Given the description of an element on the screen output the (x, y) to click on. 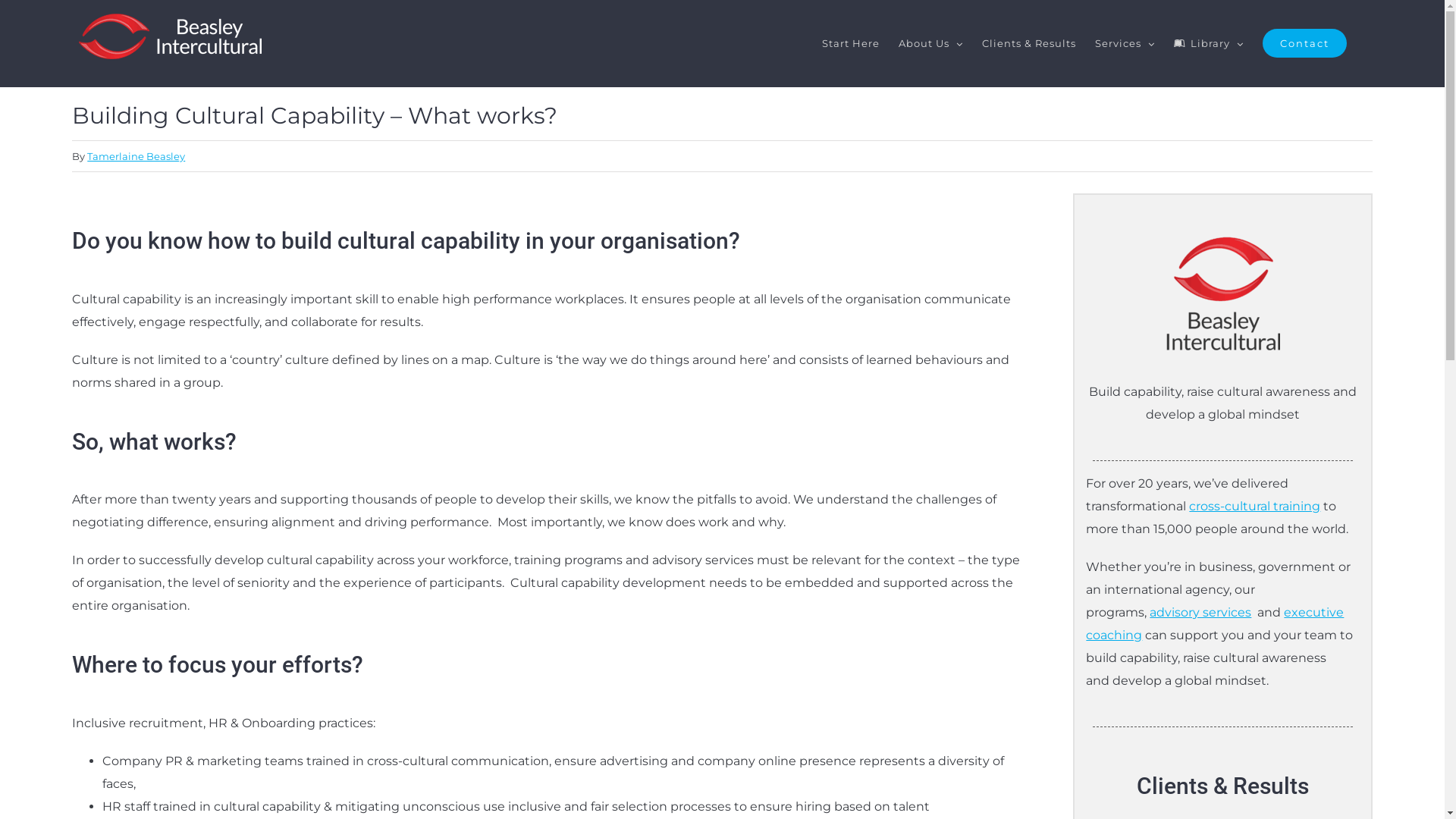
Tamerlaine Beasley Element type: text (136, 156)
Contact Element type: text (1304, 42)
About Us Element type: text (930, 42)
Library Element type: text (1208, 42)
Start Here Element type: text (850, 42)
cross-cultural training Element type: text (1254, 505)
Clients & Results Element type: text (1029, 42)
Services Element type: text (1124, 42)
advisory services Element type: text (1200, 612)
executive coaching Element type: text (1214, 623)
